Given the description of an element on the screen output the (x, y) to click on. 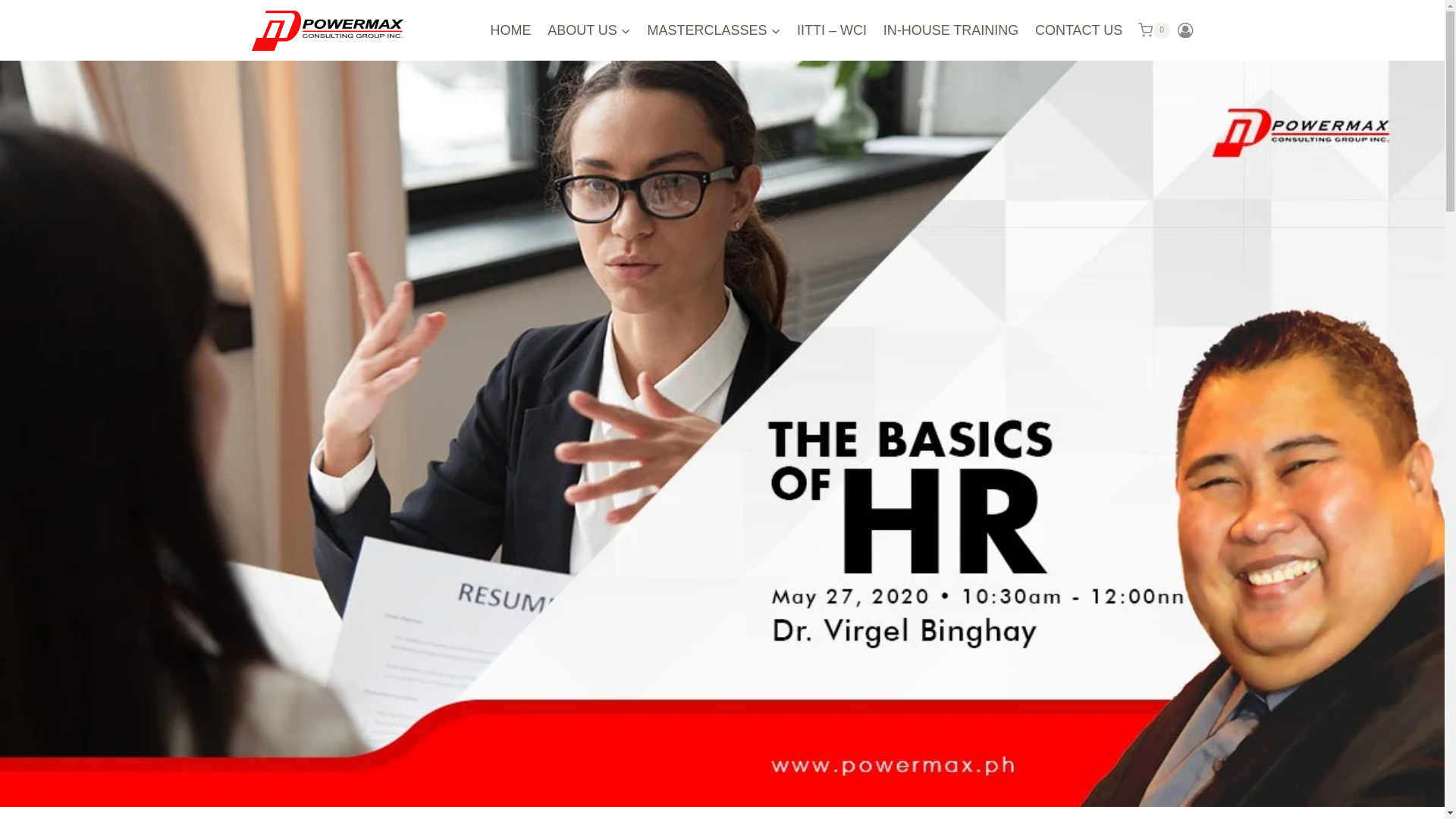
HOME (510, 30)
CONTACT US (1078, 30)
MASTERCLASSES (714, 30)
ABOUT US (588, 30)
0 (1154, 30)
IN-HOUSE TRAINING (950, 30)
